Given the description of an element on the screen output the (x, y) to click on. 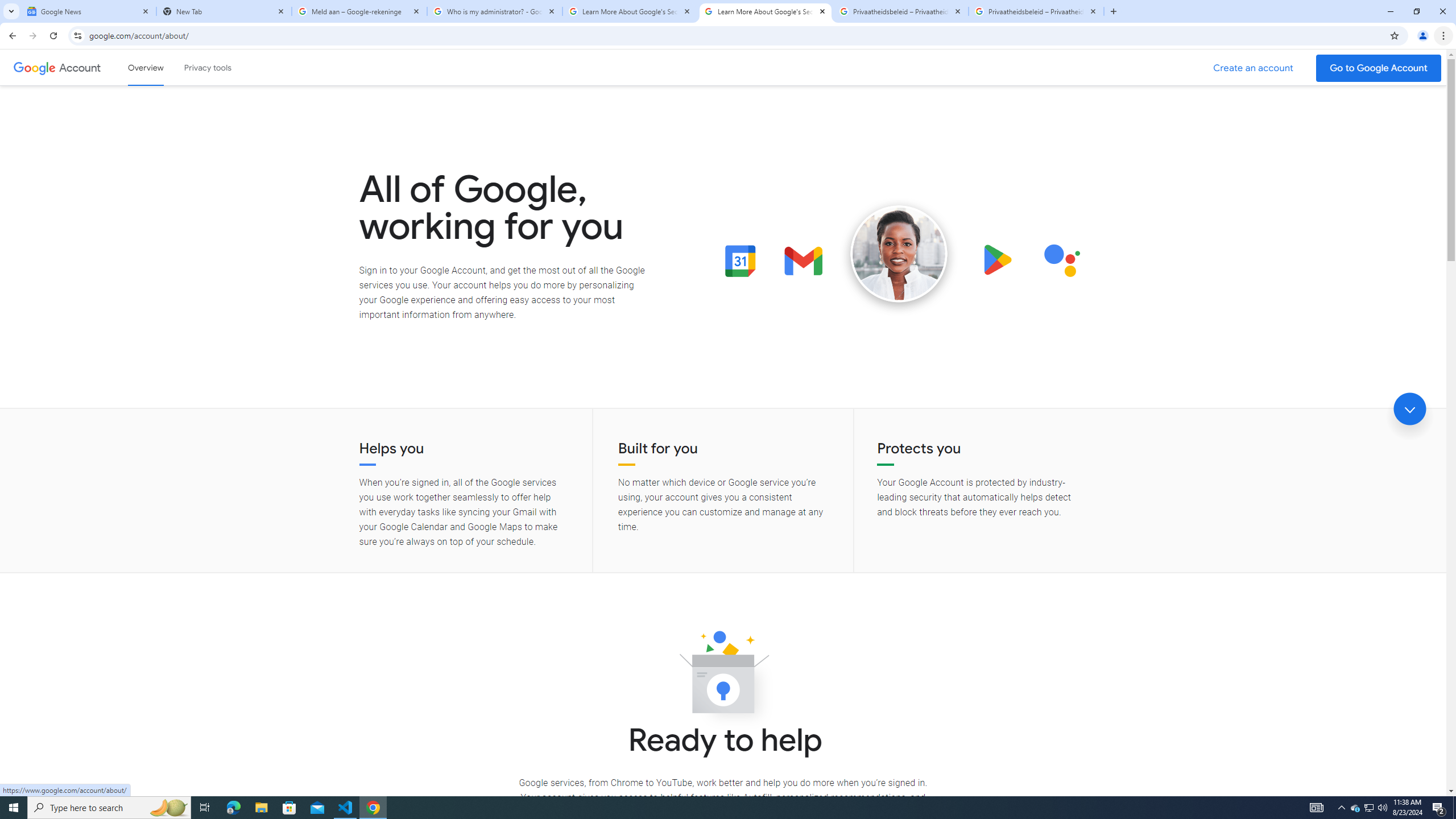
Skip to Content (162, 65)
Google News (88, 11)
Jump link (1409, 408)
Create a Google Account (1253, 67)
Google Account overview (145, 67)
Privacy tools (207, 67)
